Given the description of an element on the screen output the (x, y) to click on. 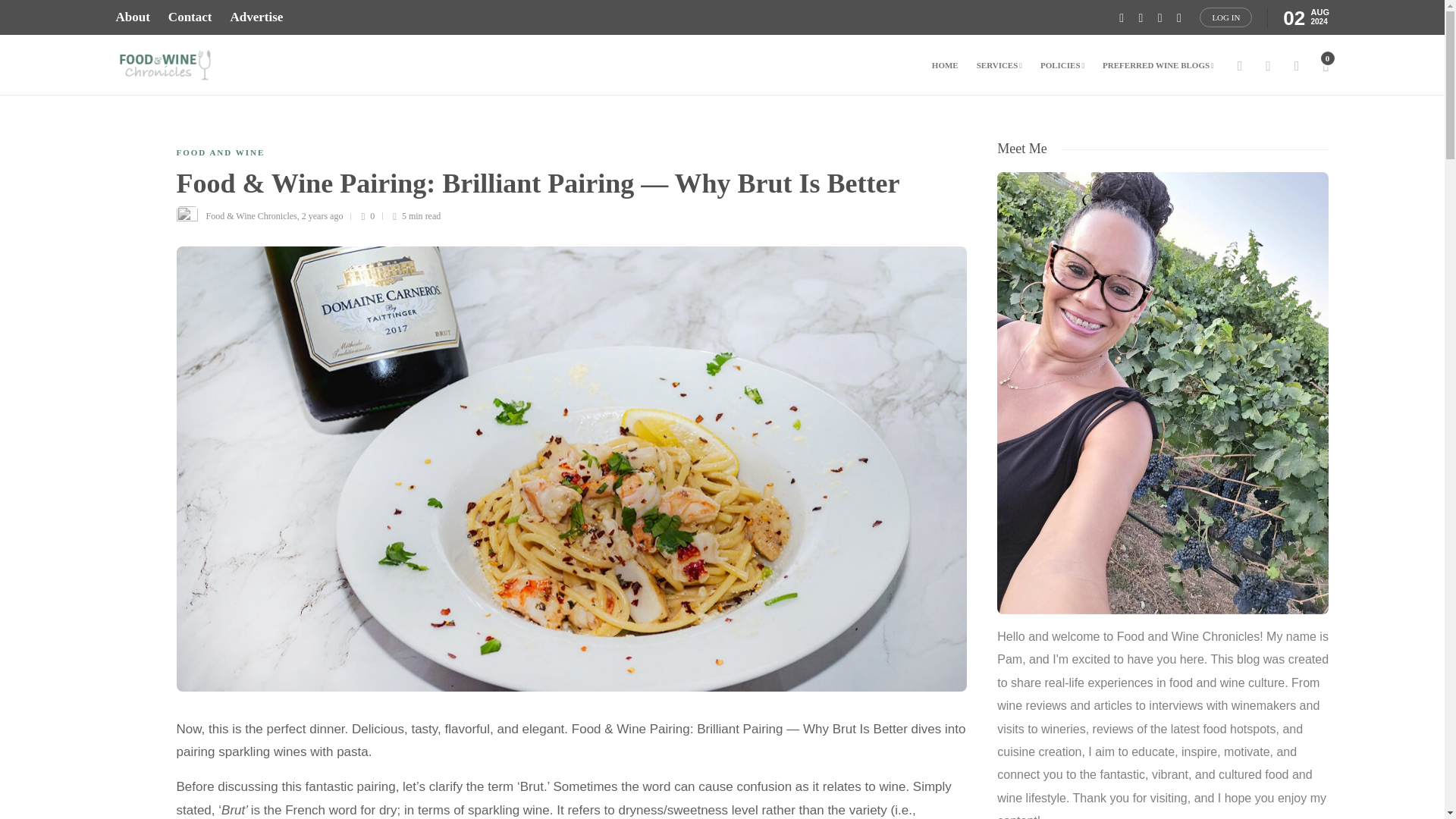
Contact (190, 17)
LOG IN (1225, 17)
Contact (190, 17)
Advertise (256, 17)
About (132, 17)
